Given the description of an element on the screen output the (x, y) to click on. 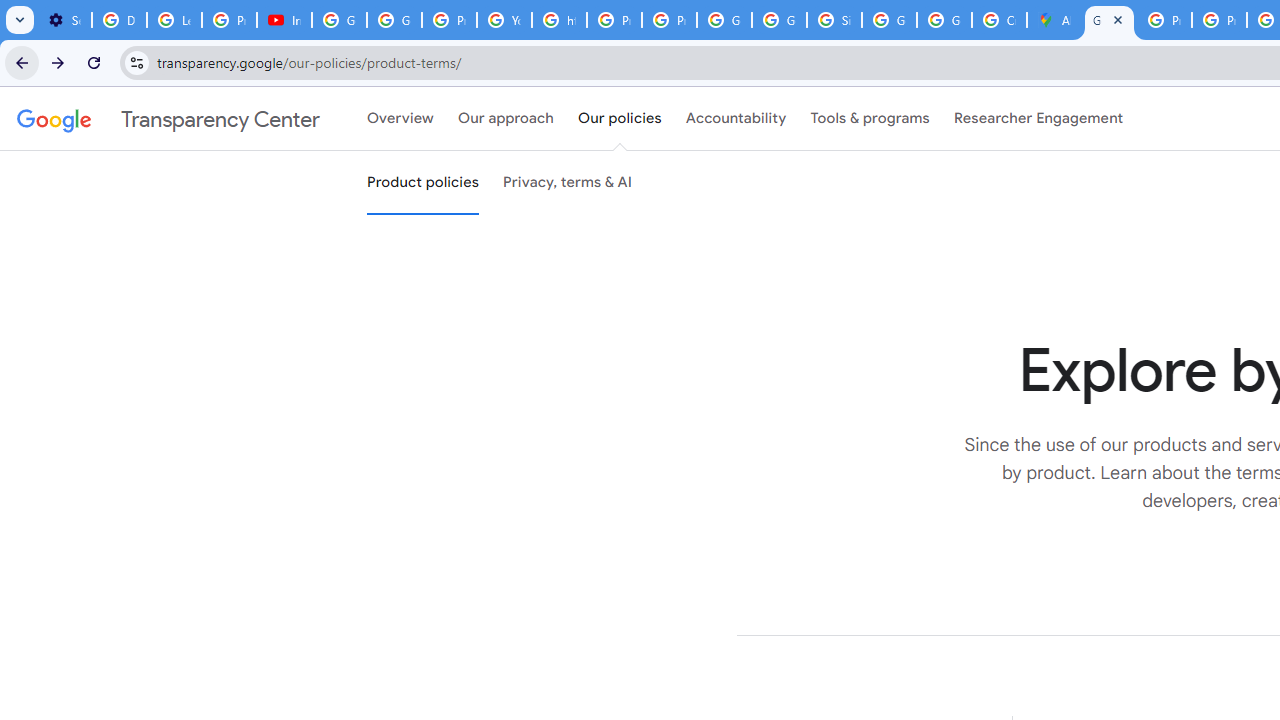
Sign in - Google Accounts (833, 20)
Transparency Center (167, 119)
Google Account Help (339, 20)
Privacy Help Center - Policies Help (1163, 20)
Privacy Help Center - Policies Help (1218, 20)
https://scholar.google.com/ (559, 20)
Google Account Help (394, 20)
Tools & programs (869, 119)
Delete photos & videos - Computer - Google Photos Help (119, 20)
Product policies (422, 183)
